Given the description of an element on the screen output the (x, y) to click on. 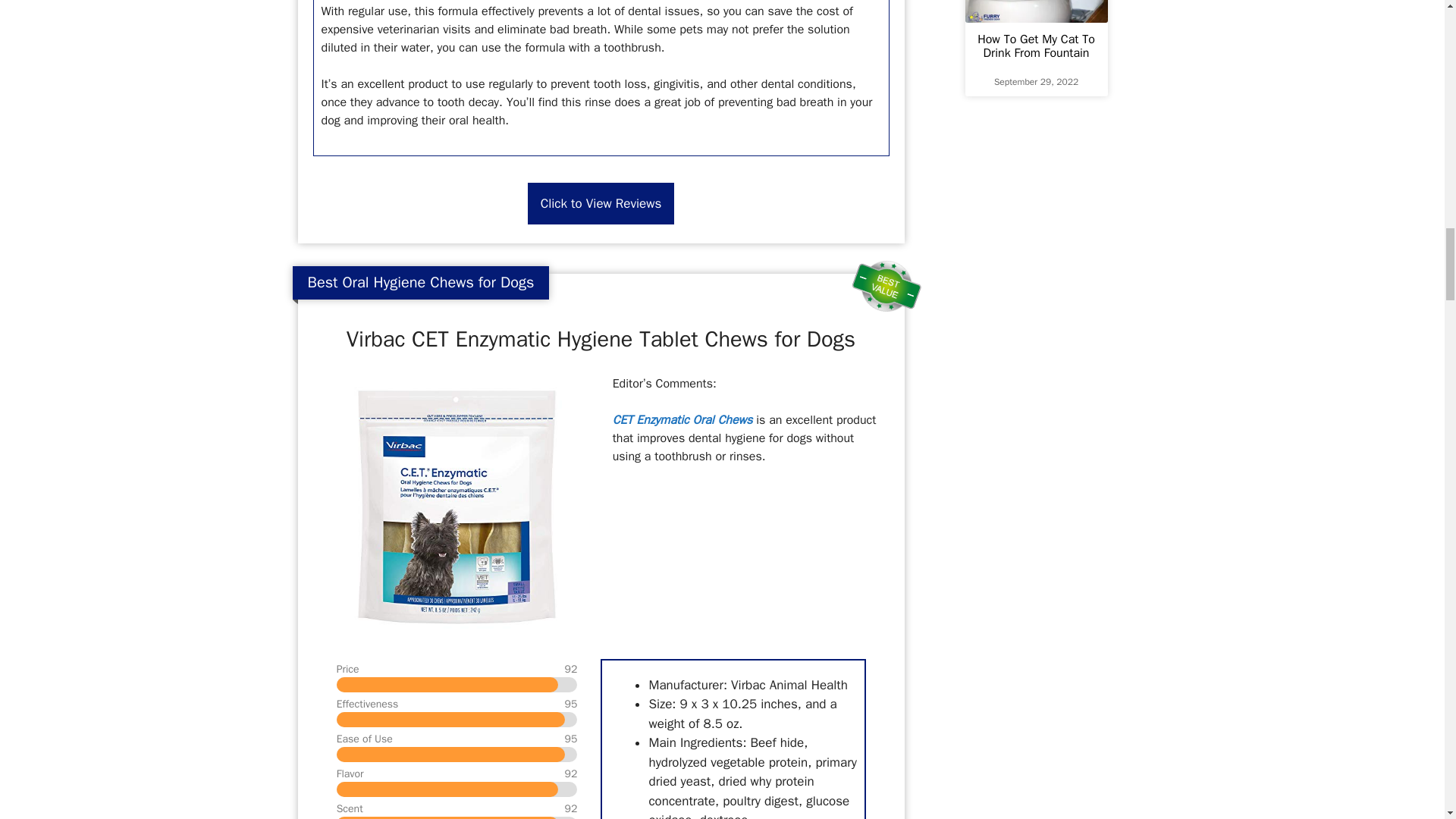
CET Enzymatic Oral Chews (682, 419)
Click to View Reviews (601, 203)
